Given the description of an element on the screen output the (x, y) to click on. 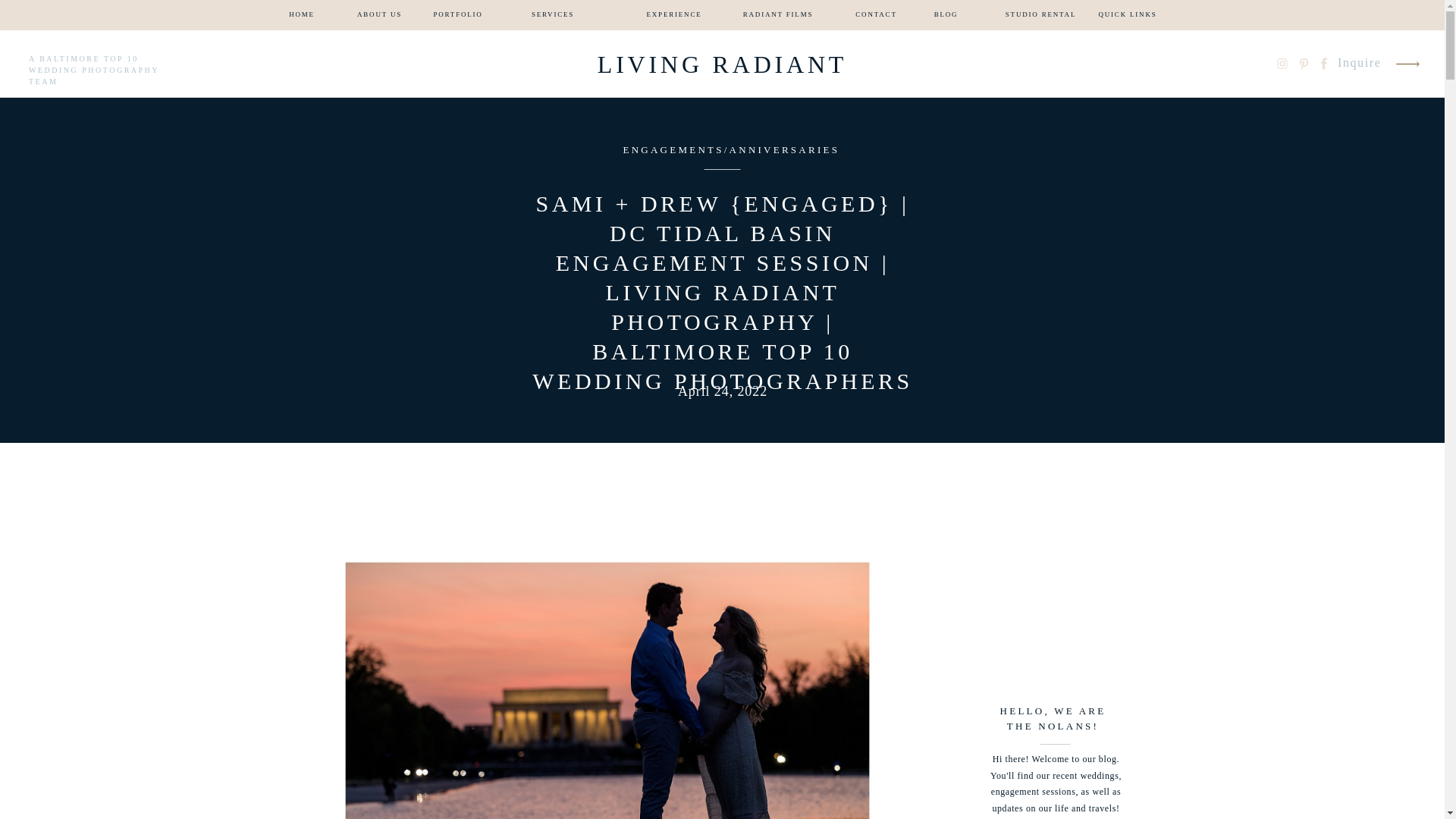
CONTACT (877, 15)
STUDIO RENTAL (1040, 15)
SERVICES (552, 15)
ABOUT US (379, 15)
HOME (301, 15)
PORTFOLIO (458, 15)
QUICK LINKS (1127, 15)
arrow (1407, 63)
Inquire  (1360, 64)
BLOG (946, 15)
